Given the description of an element on the screen output the (x, y) to click on. 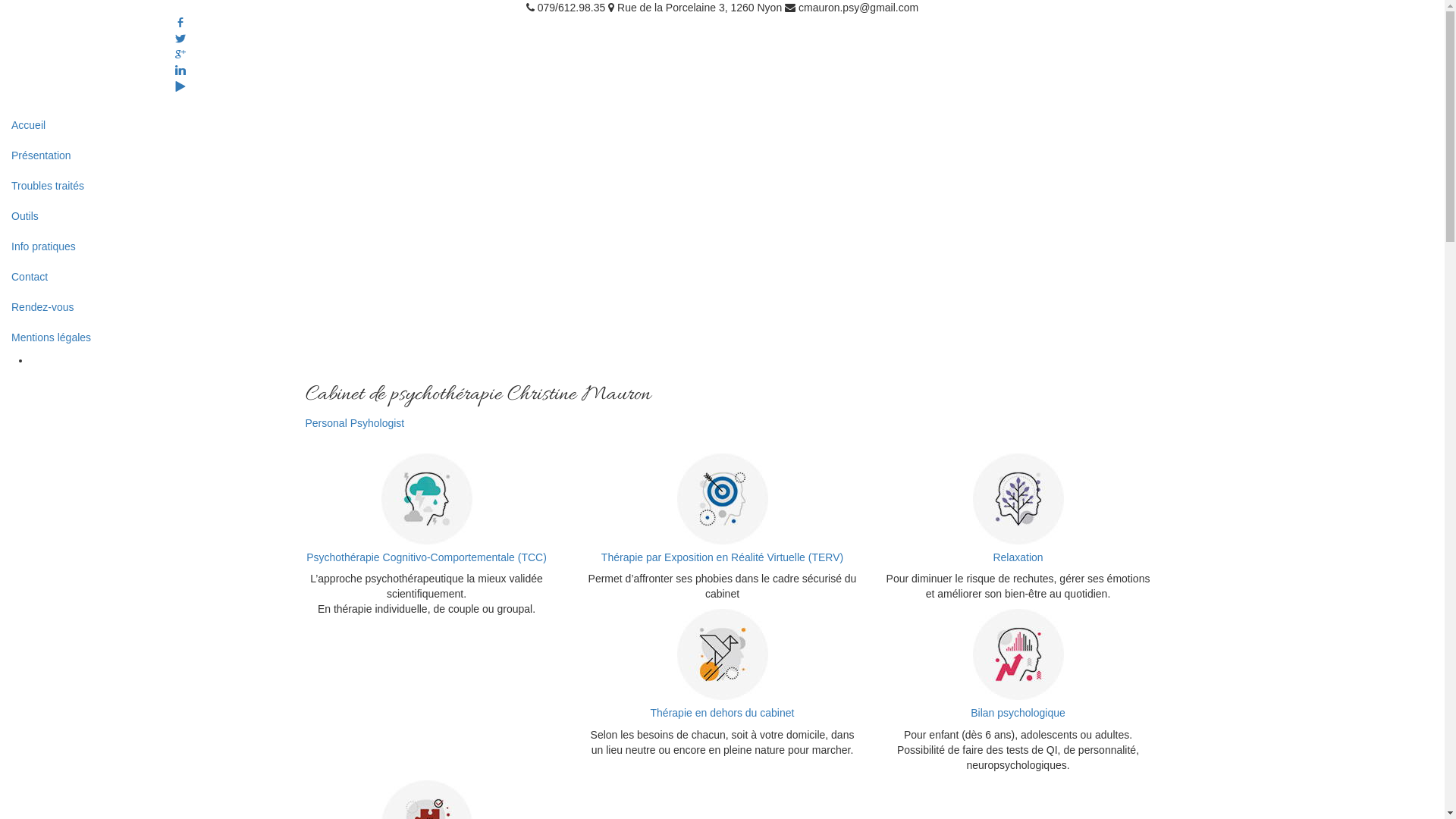
Rendez-vous Element type: text (722, 306)
Contact Element type: text (722, 276)
Info pratiques Element type: text (722, 246)
Outils Element type: text (722, 215)
Personal Psyhologist Element type: text (354, 423)
Accueil Element type: text (722, 124)
Bilan psychologique Element type: text (1017, 712)
Relaxation Element type: text (1017, 557)
